Given the description of an element on the screen output the (x, y) to click on. 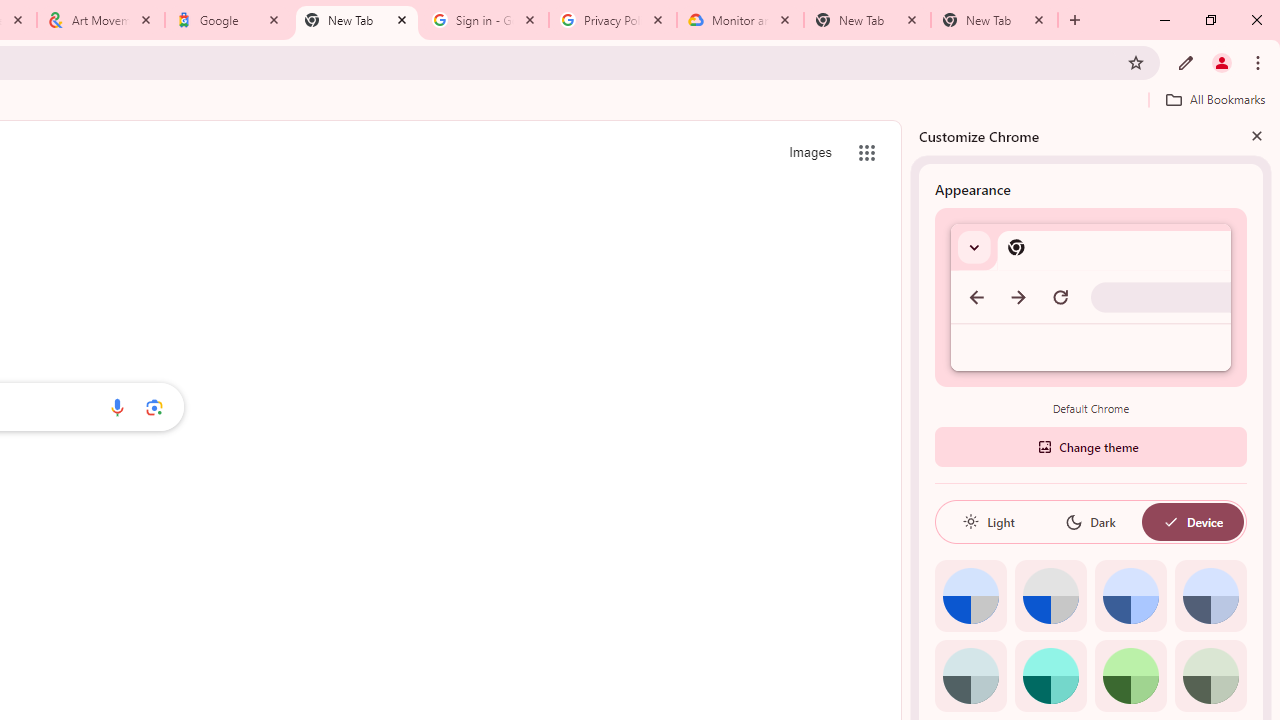
Aqua (1050, 676)
Default Chrome (1091, 296)
Device (1192, 521)
Grey (970, 676)
